Given the description of an element on the screen output the (x, y) to click on. 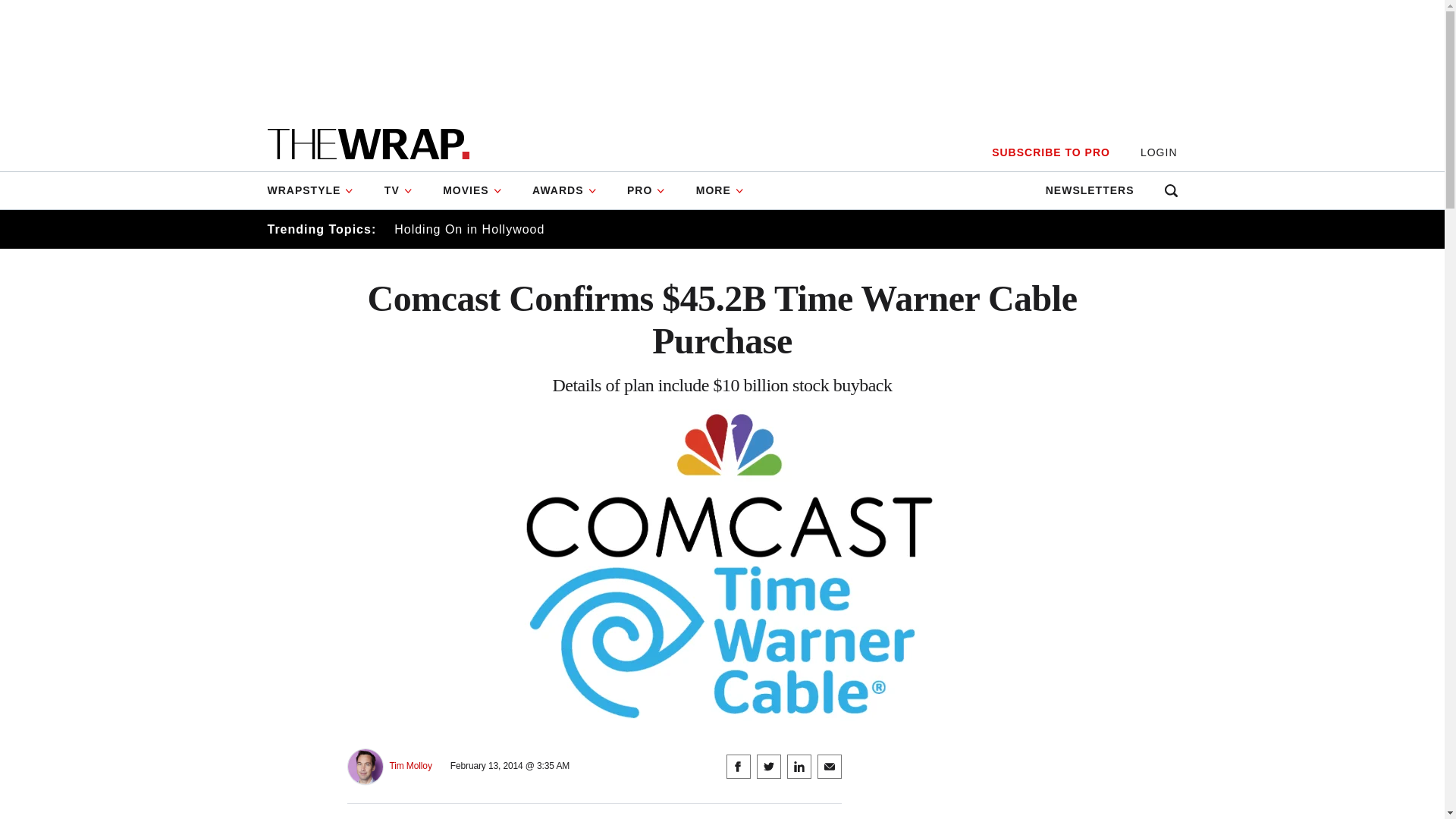
SUBSCRIBE TO PRO (1050, 152)
MOVIES (472, 190)
WRAPSTYLE (317, 190)
Posts by Tim Molloy (411, 766)
LOGIN (1158, 152)
AWARDS (563, 190)
MORE (719, 190)
PRO (646, 190)
TV (398, 190)
